Given the description of an element on the screen output the (x, y) to click on. 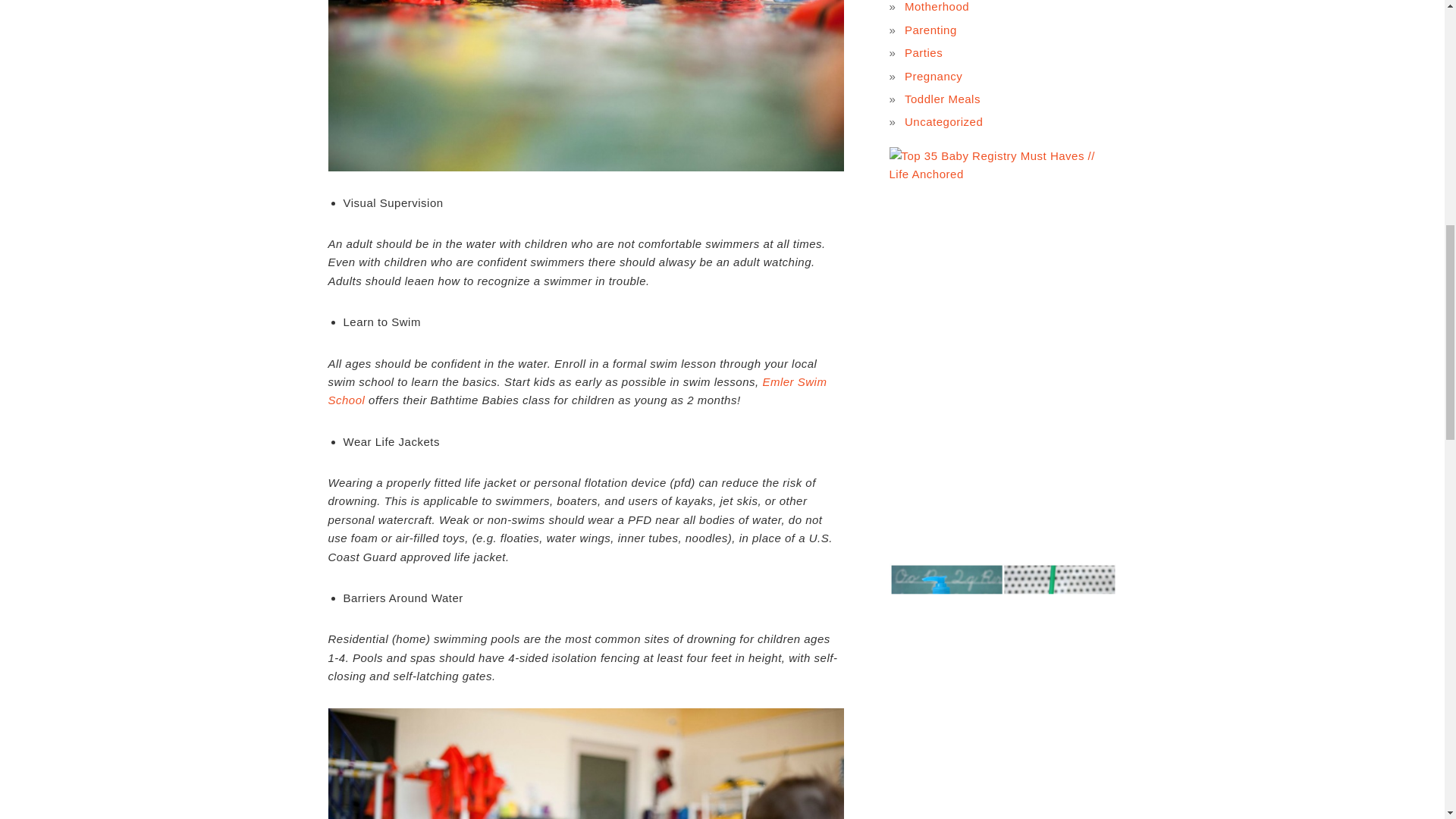
Motherhood (936, 6)
Emler Swim School (577, 390)
Parties (923, 51)
Parenting (930, 29)
Pregnancy (933, 75)
